Given the description of an element on the screen output the (x, y) to click on. 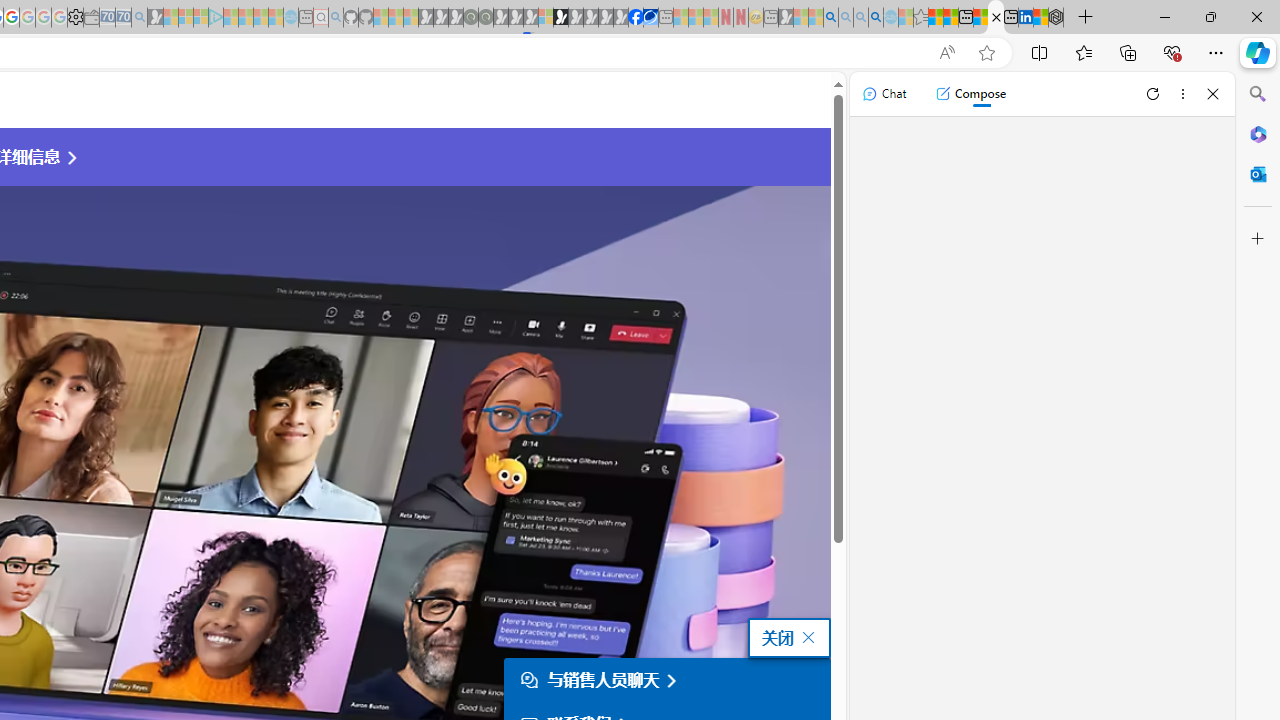
Future Focus Report 2024 - Sleeping (485, 17)
